Given the description of an element on the screen output the (x, y) to click on. 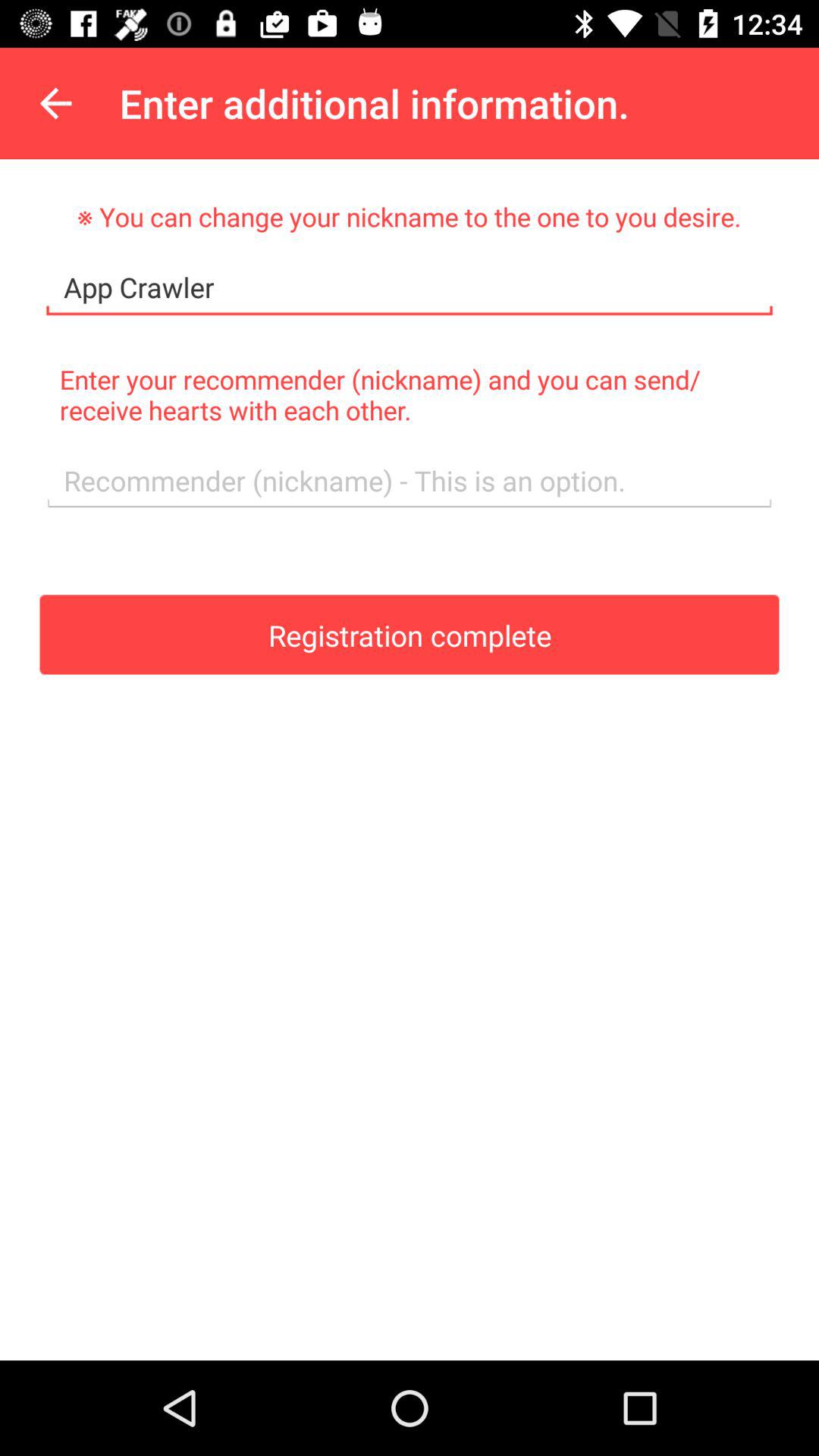
press the icon at the top left corner (55, 103)
